Given the description of an element on the screen output the (x, y) to click on. 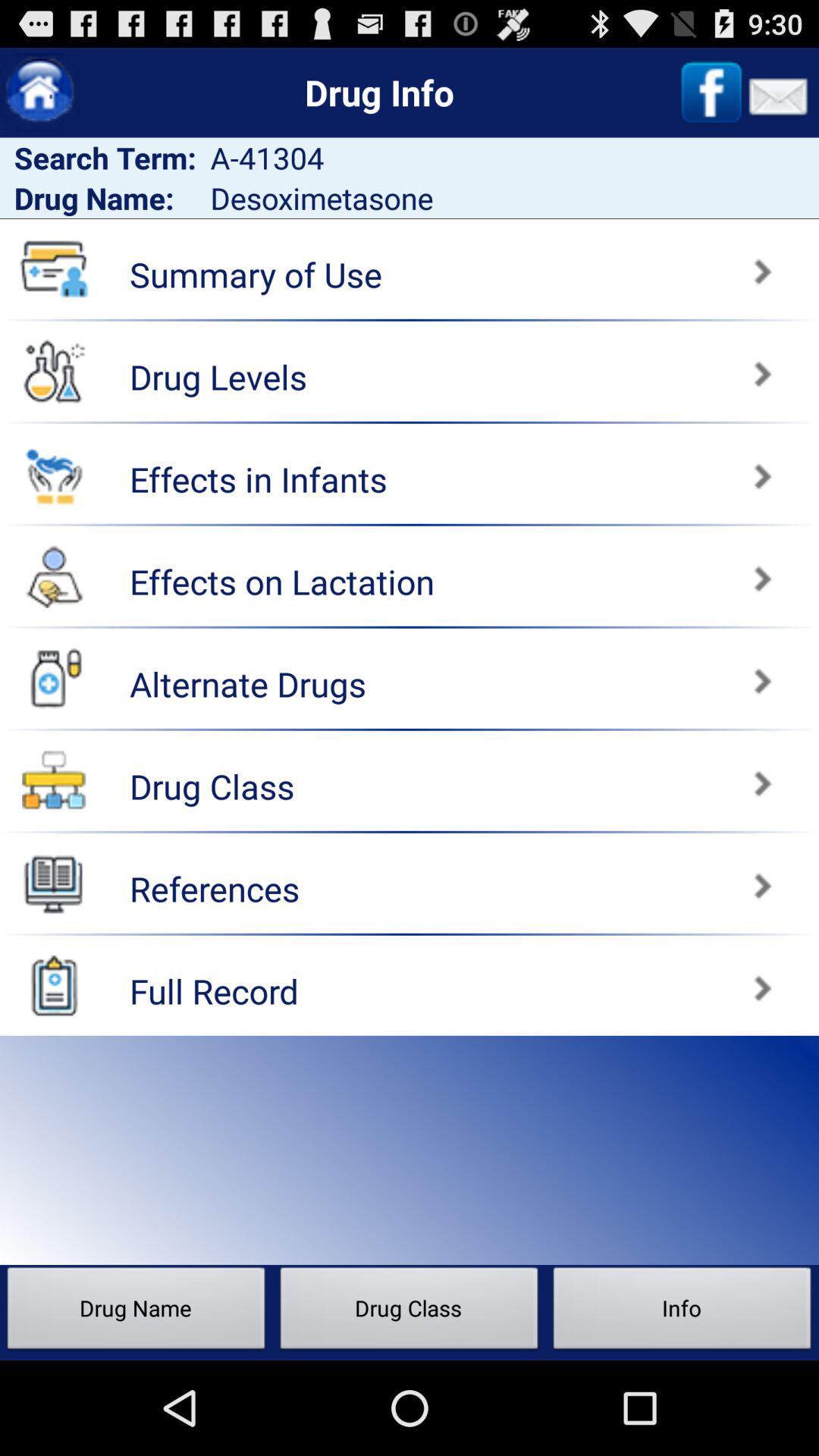
show drug levels (53, 371)
